Given the description of an element on the screen output the (x, y) to click on. 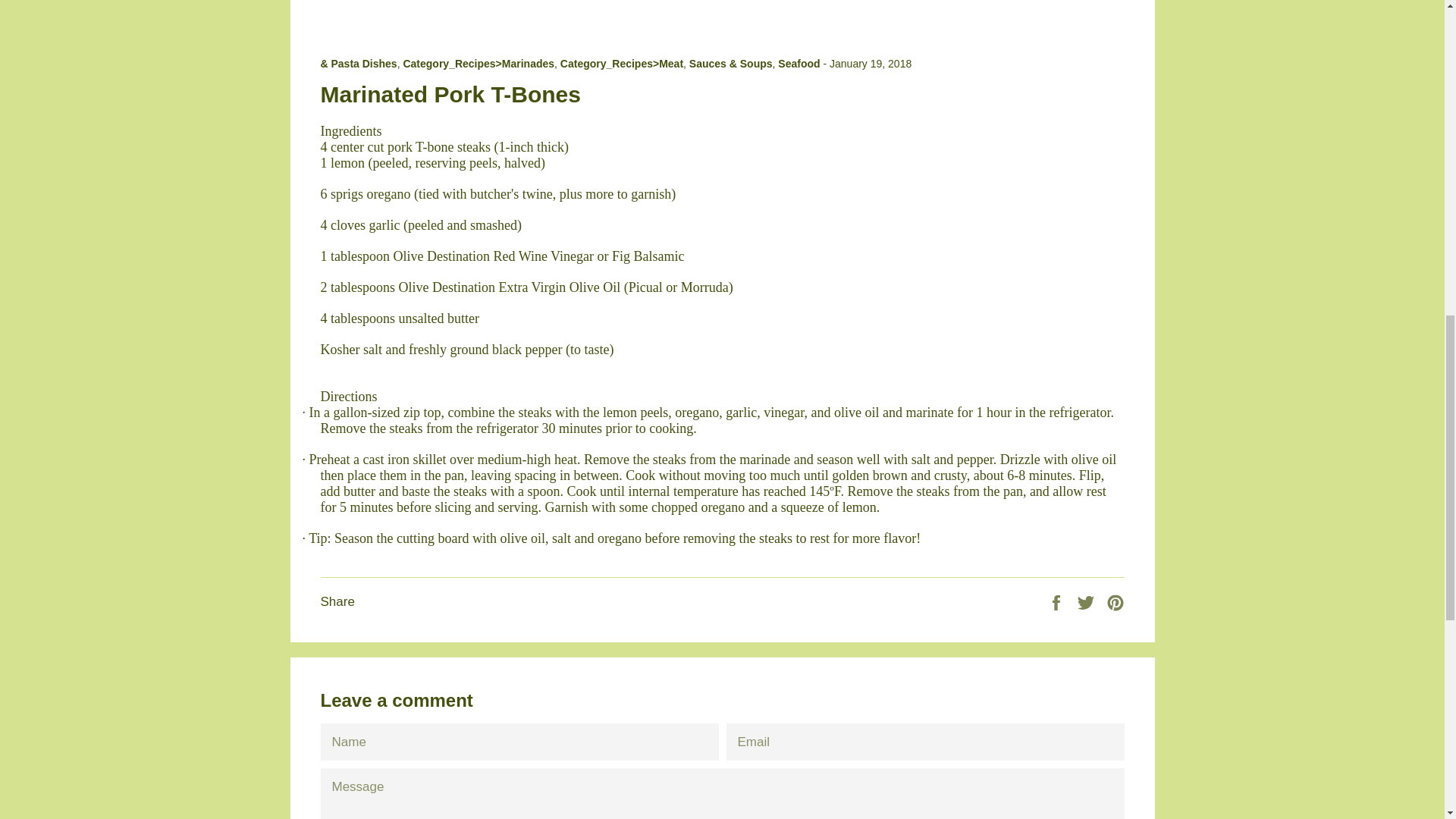
Tweet on Twitter (1088, 601)
Share on Facebook (1057, 601)
Pin on Pinterest (1114, 601)
